Given the description of an element on the screen output the (x, y) to click on. 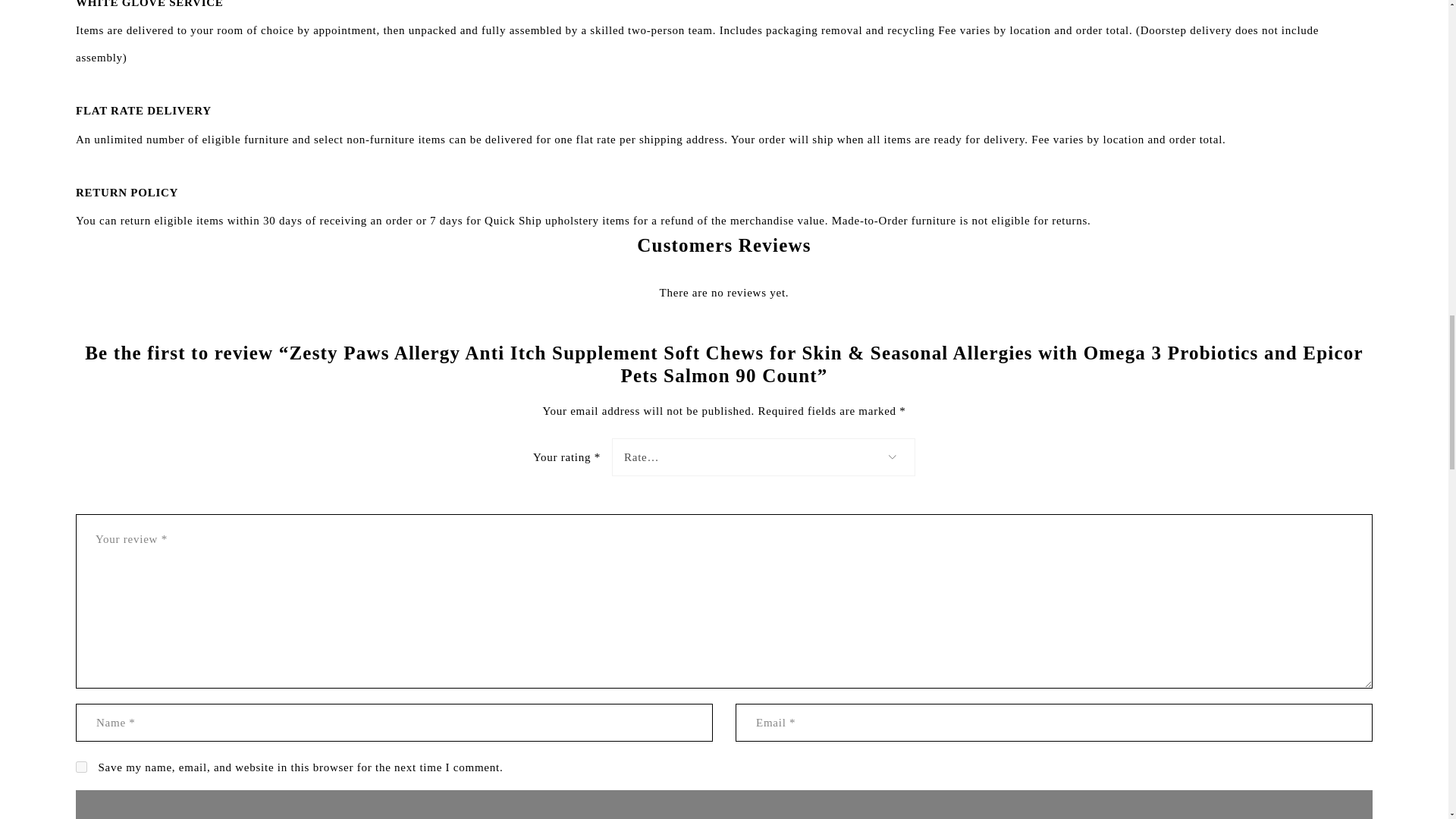
Submit (724, 804)
yes (81, 767)
